Given the description of an element on the screen output the (x, y) to click on. 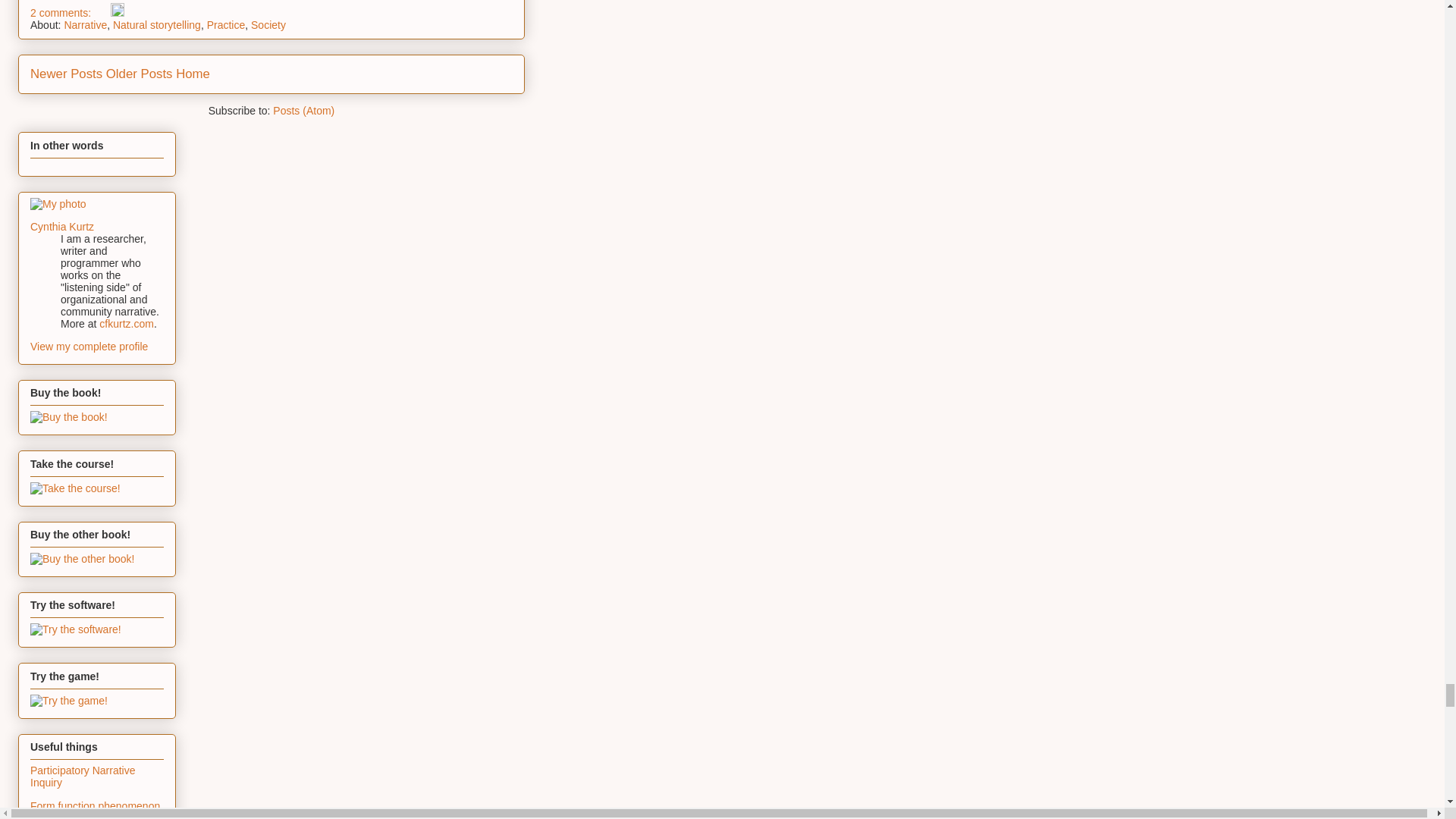
Older Posts (139, 73)
Edit Post (116, 12)
Email Post (102, 12)
Newer Posts (65, 73)
